Given the description of an element on the screen output the (x, y) to click on. 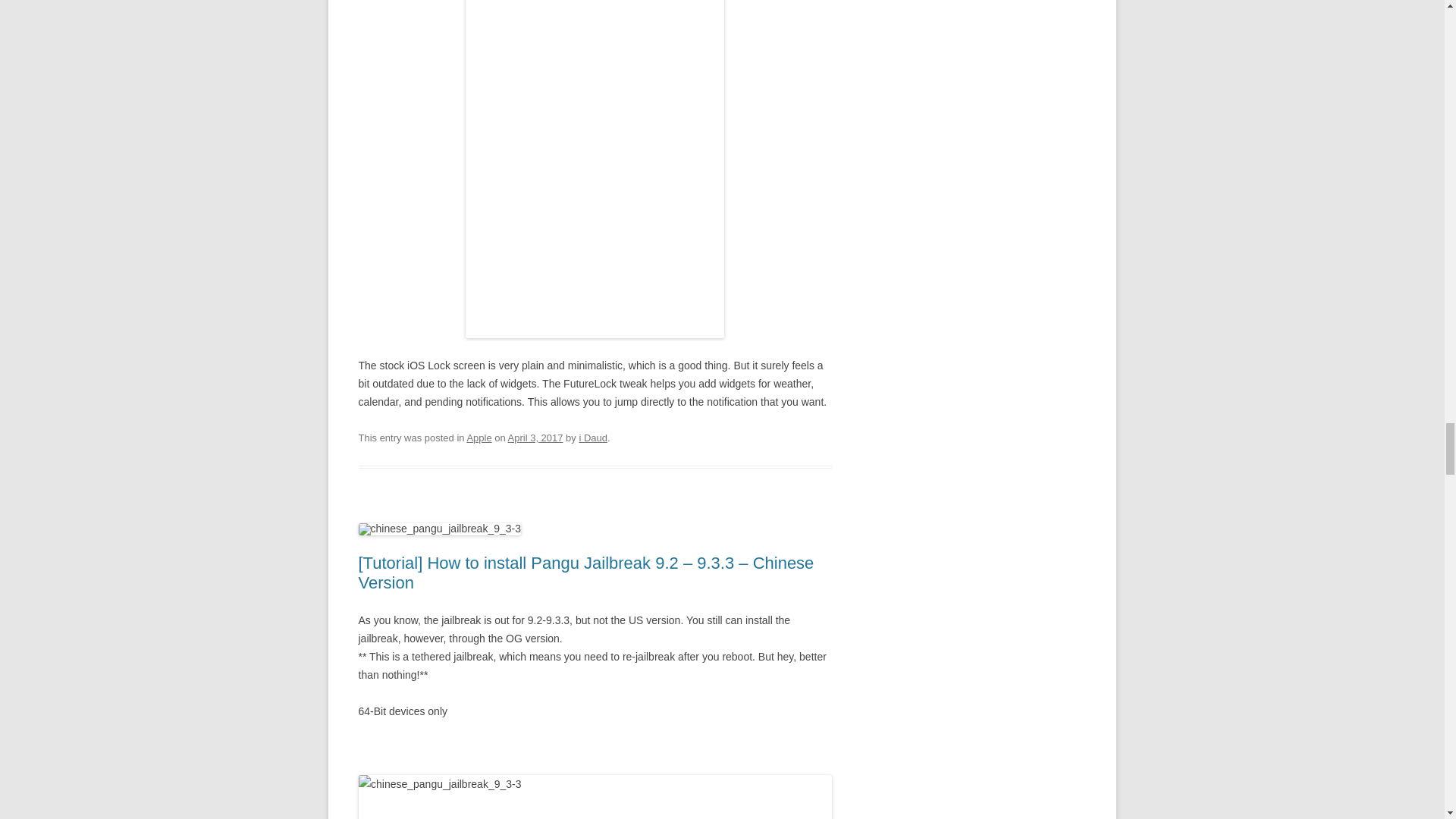
Apple (478, 437)
2:04 PM (535, 437)
i Daud (592, 437)
View all posts by i Daud (592, 437)
April 3, 2017 (535, 437)
